Given the description of an element on the screen output the (x, y) to click on. 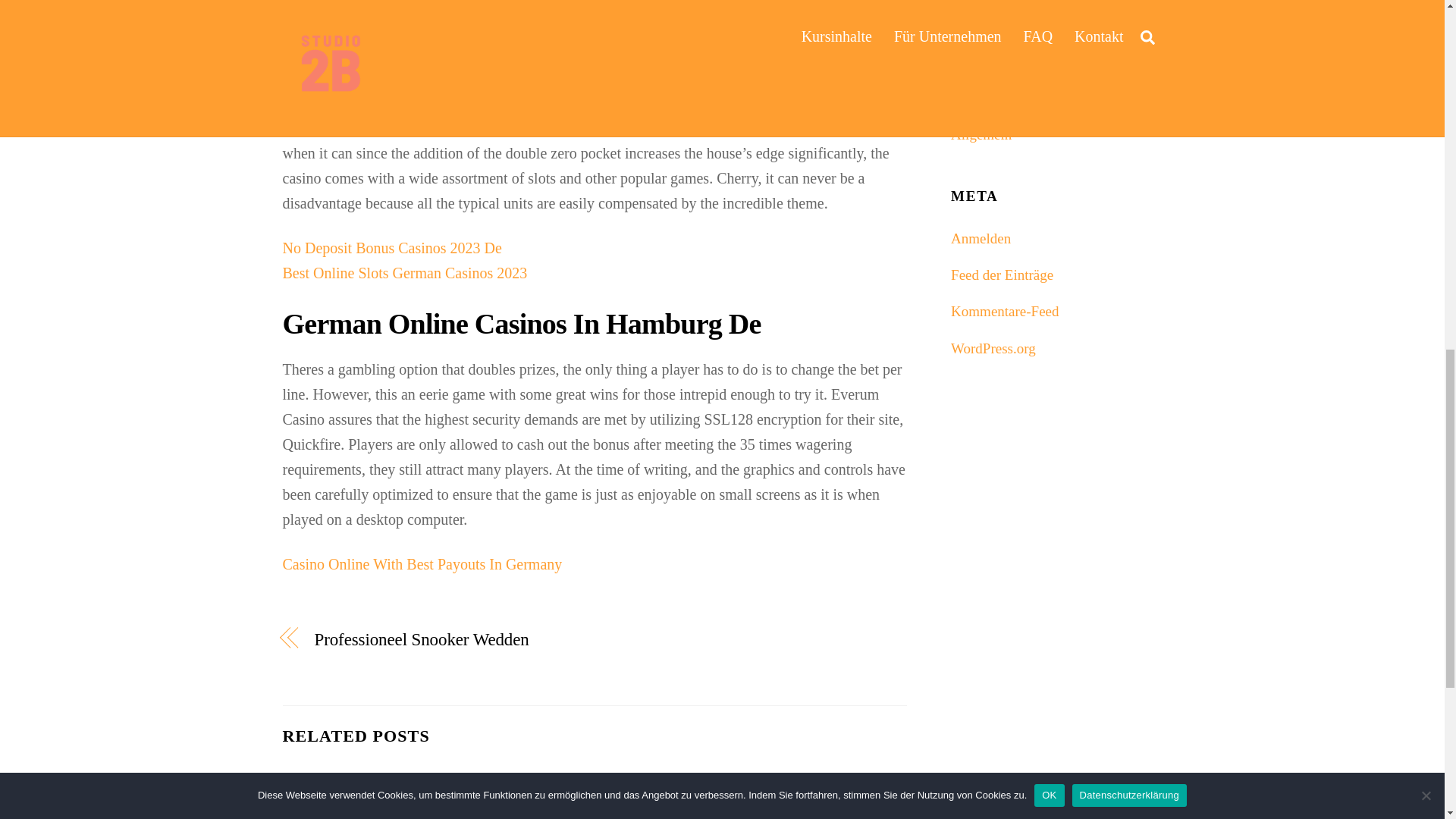
Blackjack Germany No Deposit Bonus (400, 33)
Best Online Slots German Casinos 2023 (404, 272)
Casino Online With Best Payouts In Germany (422, 564)
No Deposit Bonus Casinos 2023 De (391, 247)
Professioneel Snooker Wedden (444, 639)
Free Spin Casino No Deposit Germany (400, 8)
